Given the description of an element on the screen output the (x, y) to click on. 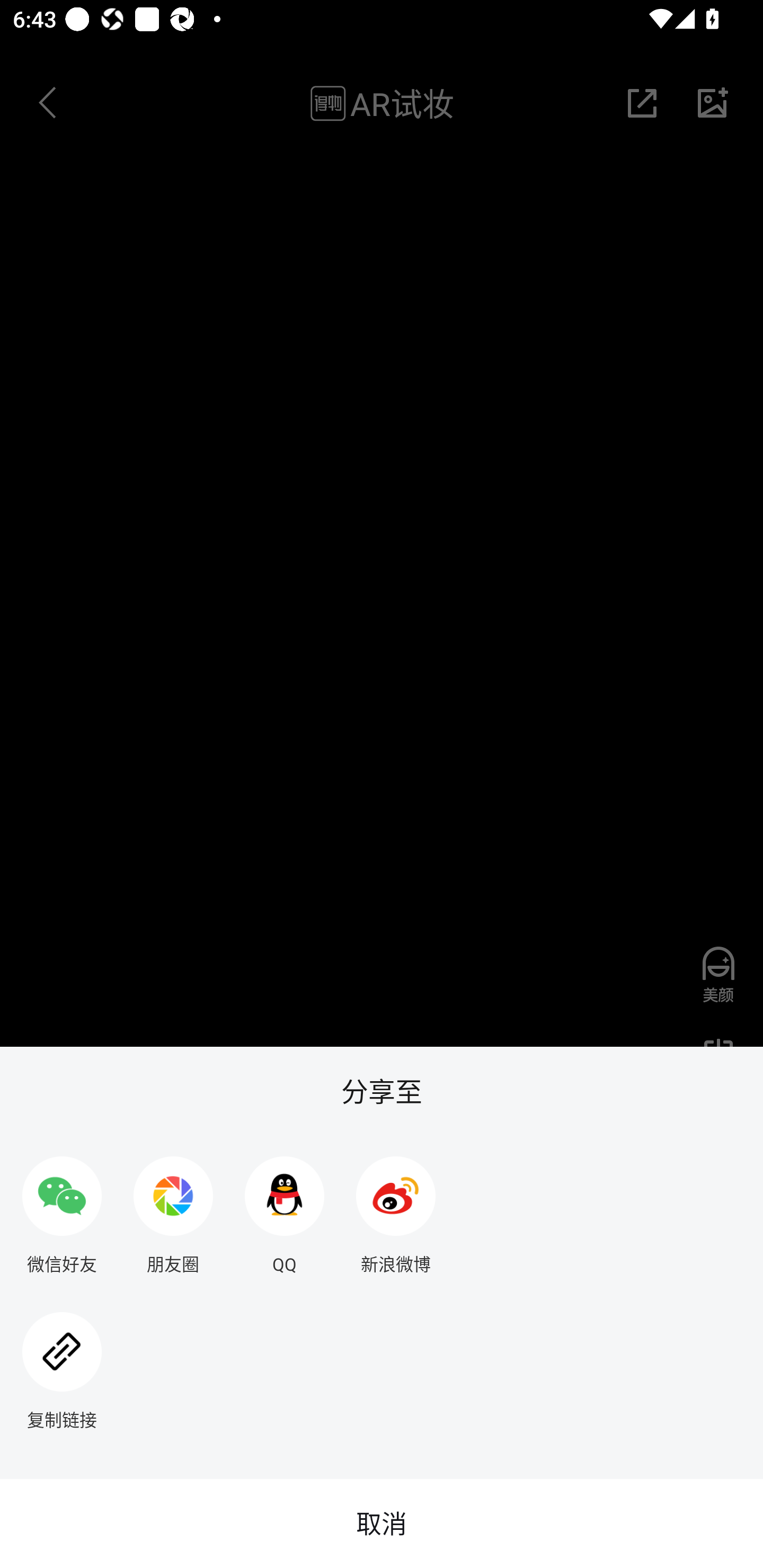
微信好友 (61, 1207)
朋友圈 (172, 1207)
QQ (284, 1207)
新浪微博 (395, 1207)
复制链接 (61, 1363)
取消 (381, 1523)
